Given the description of an element on the screen output the (x, y) to click on. 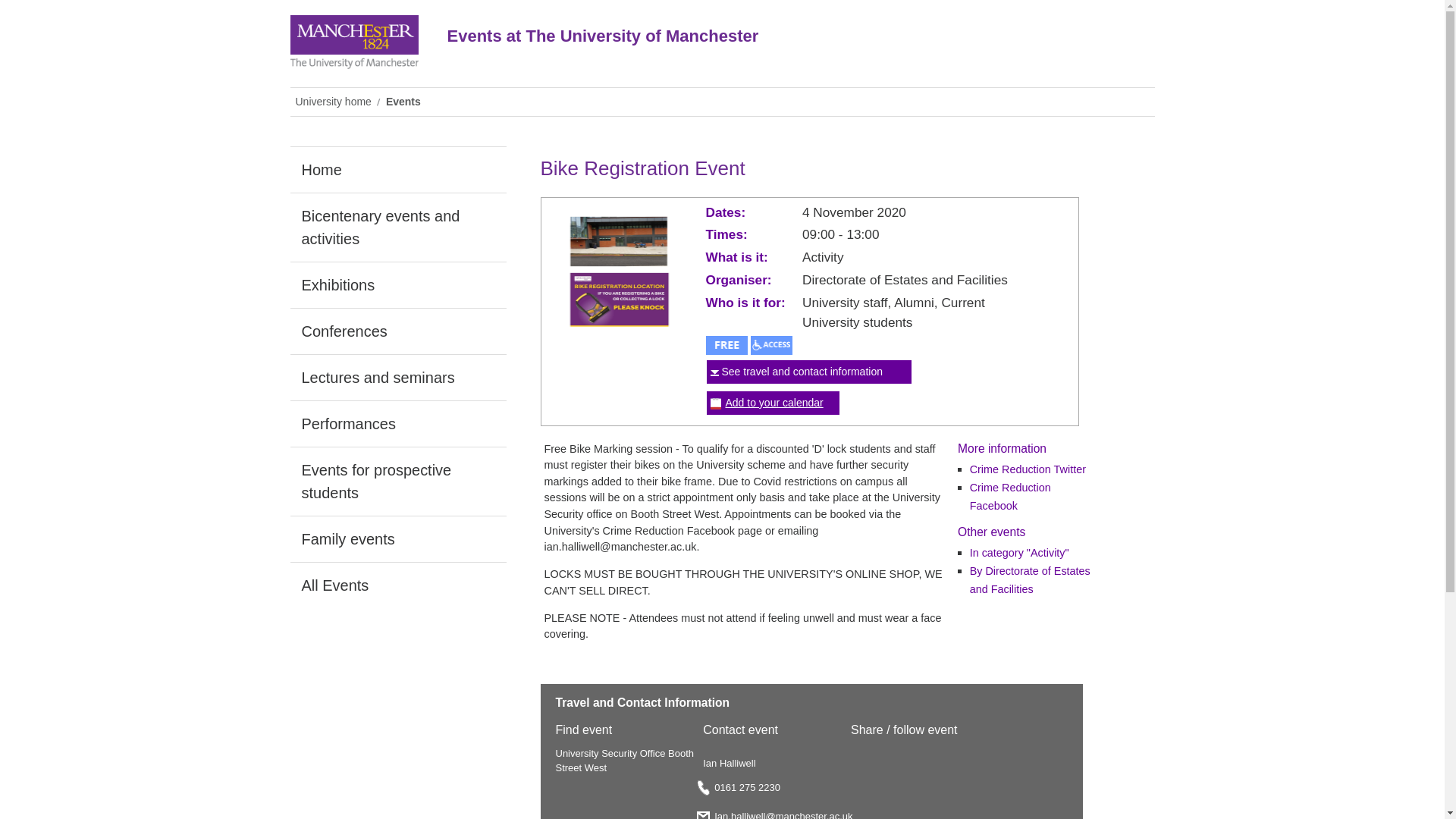
See travel and contact information (802, 371)
Events for prospective students (397, 481)
Events (404, 101)
University home (334, 101)
By Directorate of Estates and Facilities (1029, 580)
Events at The University of Manchester (752, 47)
Crime Reduction Facebook (1010, 496)
Add to your calendar (773, 402)
Family events (397, 538)
Bicentenary events and activities (397, 227)
Exhibitions (397, 284)
Performances (397, 423)
Download iCal file (773, 402)
Home (397, 169)
In category "Activity" (1018, 552)
